Given the description of an element on the screen output the (x, y) to click on. 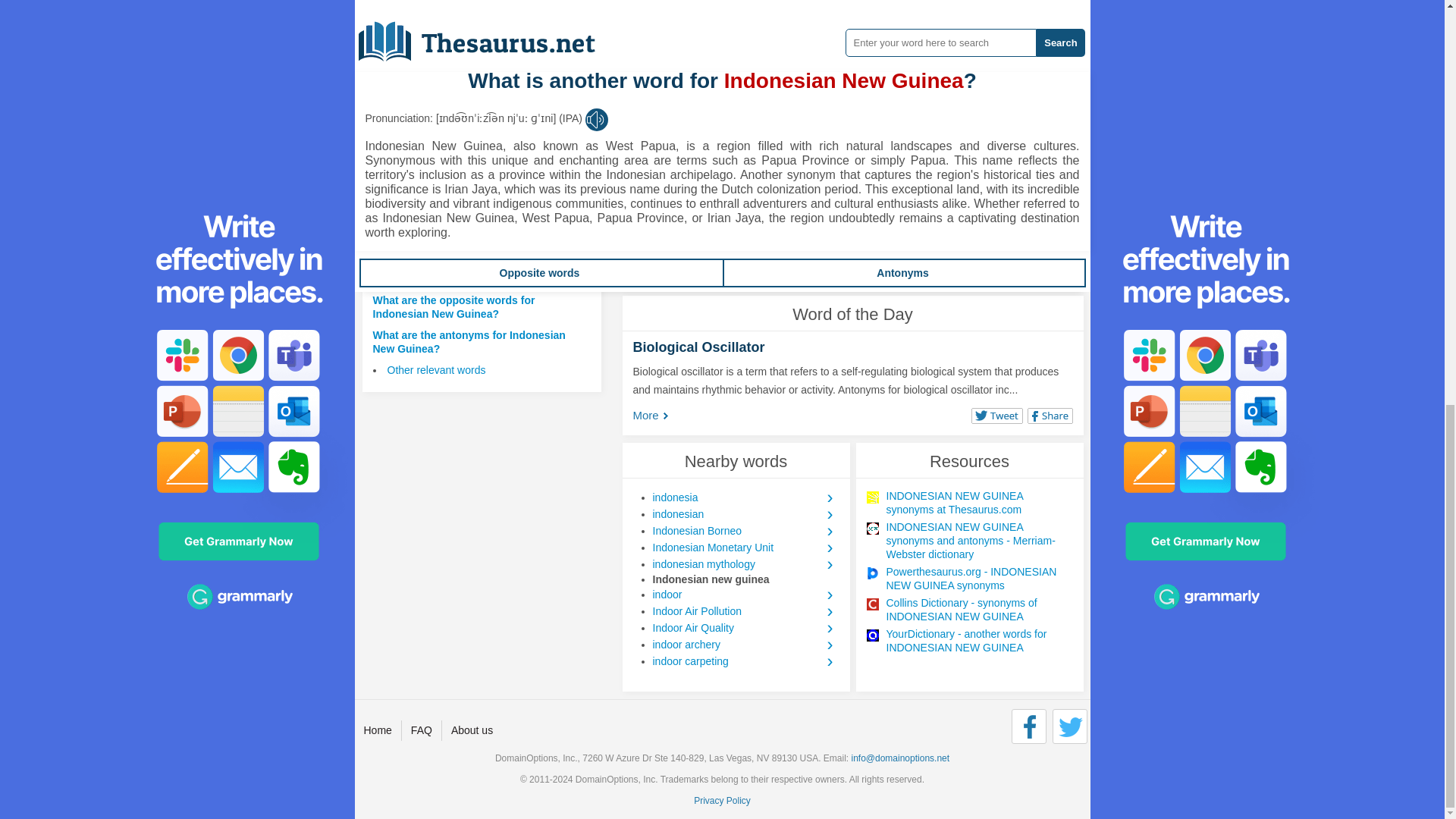
Antonyms for Indonesian new guinea (972, 260)
indoor archery (745, 644)
What are the opposite words for Indonesian New Guinea? (453, 307)
Antonyms for Indonesian new guinea (814, 260)
Indoor Air Pollution (745, 610)
Other relevant words (435, 369)
used (999, 260)
Antonyms for Indonesian new guinea (999, 260)
Antonyms for Indonesian new guinea (730, 260)
Indoor Air Quality (745, 627)
old (768, 260)
existing (680, 260)
What are the antonyms for Indonesian New Guinea? (469, 341)
indoor (745, 594)
